Given the description of an element on the screen output the (x, y) to click on. 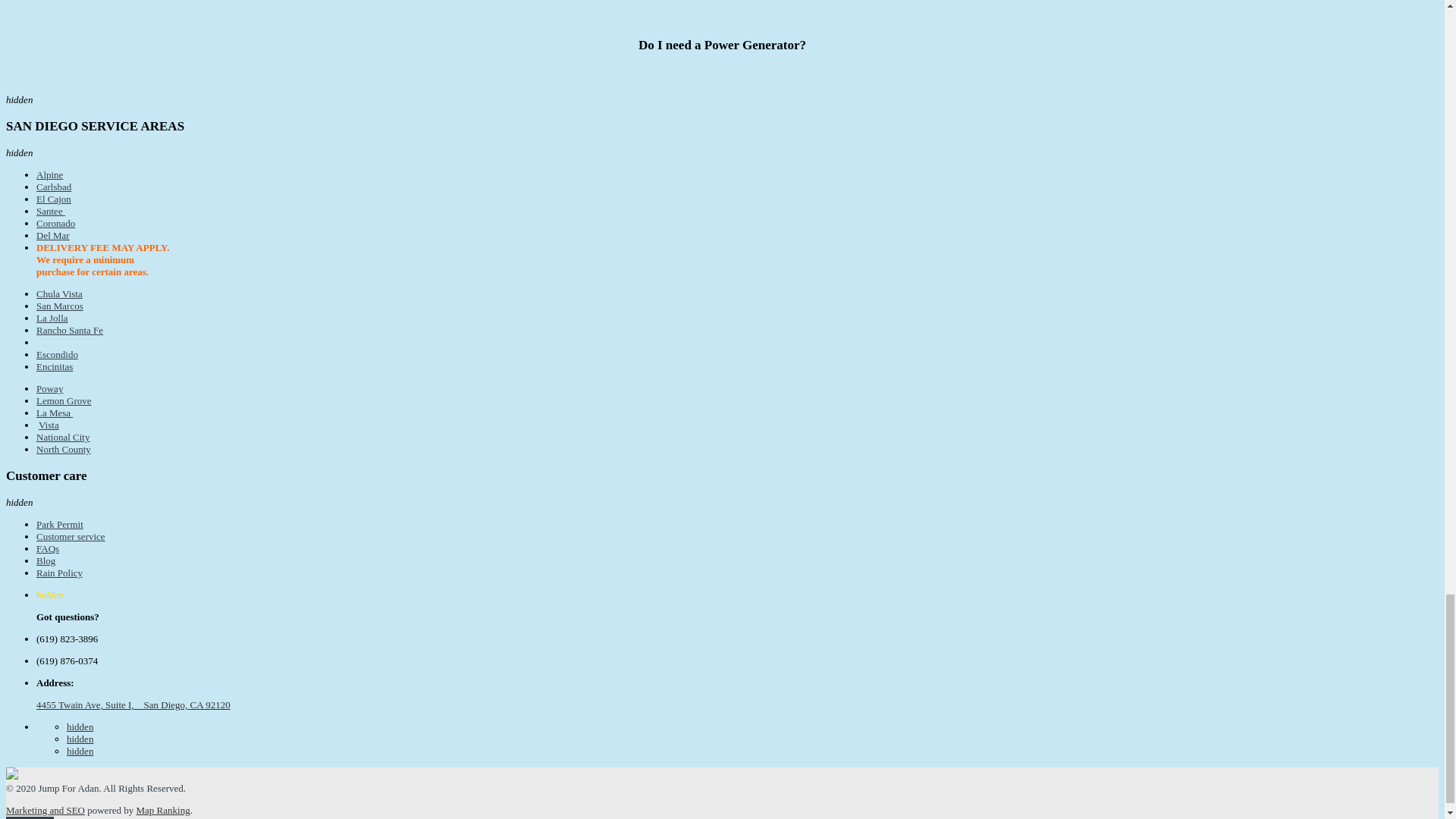
Jumper Rentals in Chula Vista CA (59, 293)
google-plus (79, 750)
rss (79, 738)
facebook (79, 726)
